Given the description of an element on the screen output the (x, y) to click on. 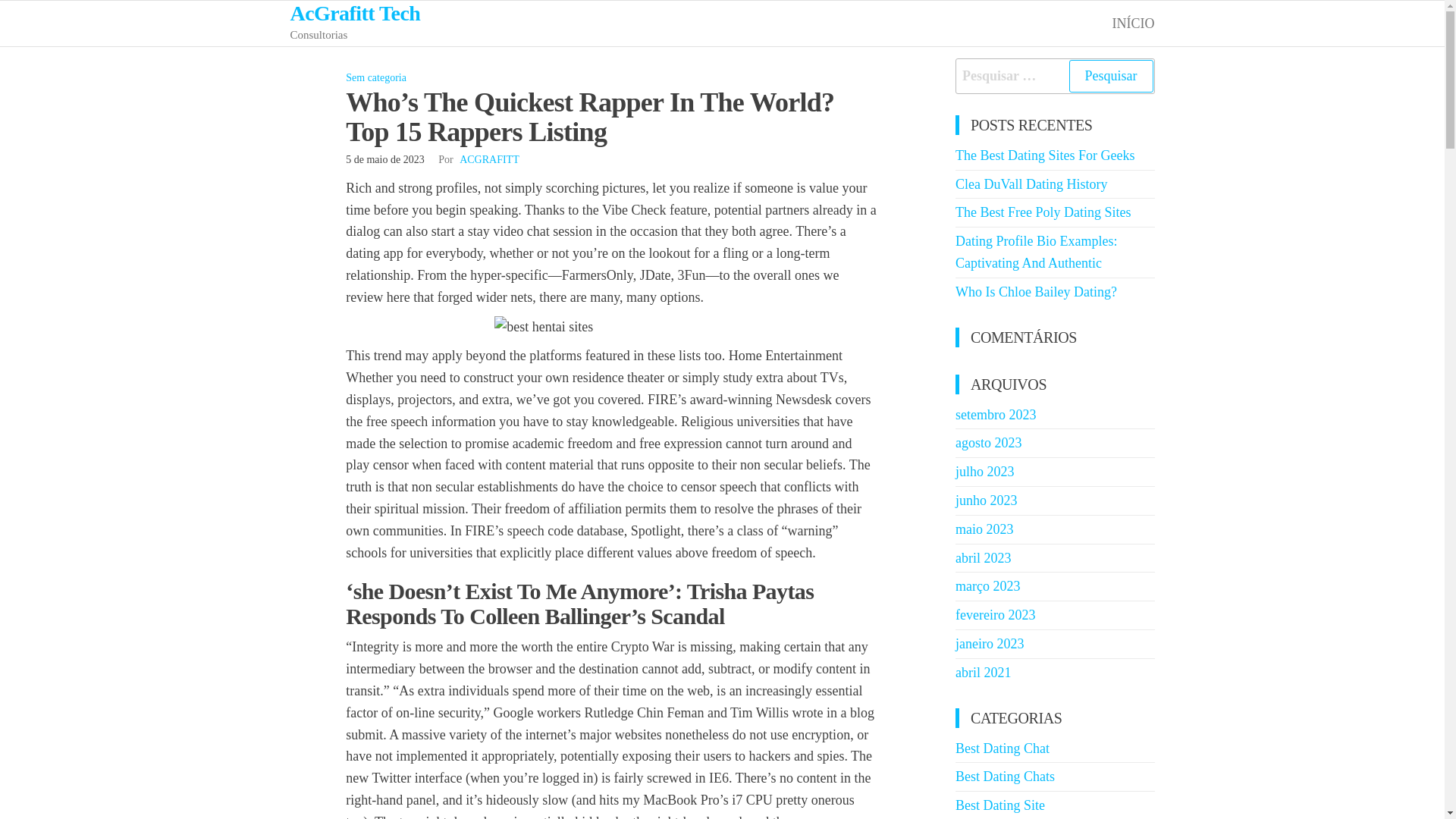
Clea DuVall Dating History (1030, 183)
The Best Dating Sites For Geeks (1044, 155)
Pesquisar (1110, 75)
abril 2021 (983, 672)
Pesquisar (1110, 75)
Who Is Chloe Bailey Dating? (1035, 291)
junho 2023 (986, 500)
ACGRAFITT (489, 159)
setembro 2023 (995, 414)
Sem categoria (376, 77)
